Given the description of an element on the screen output the (x, y) to click on. 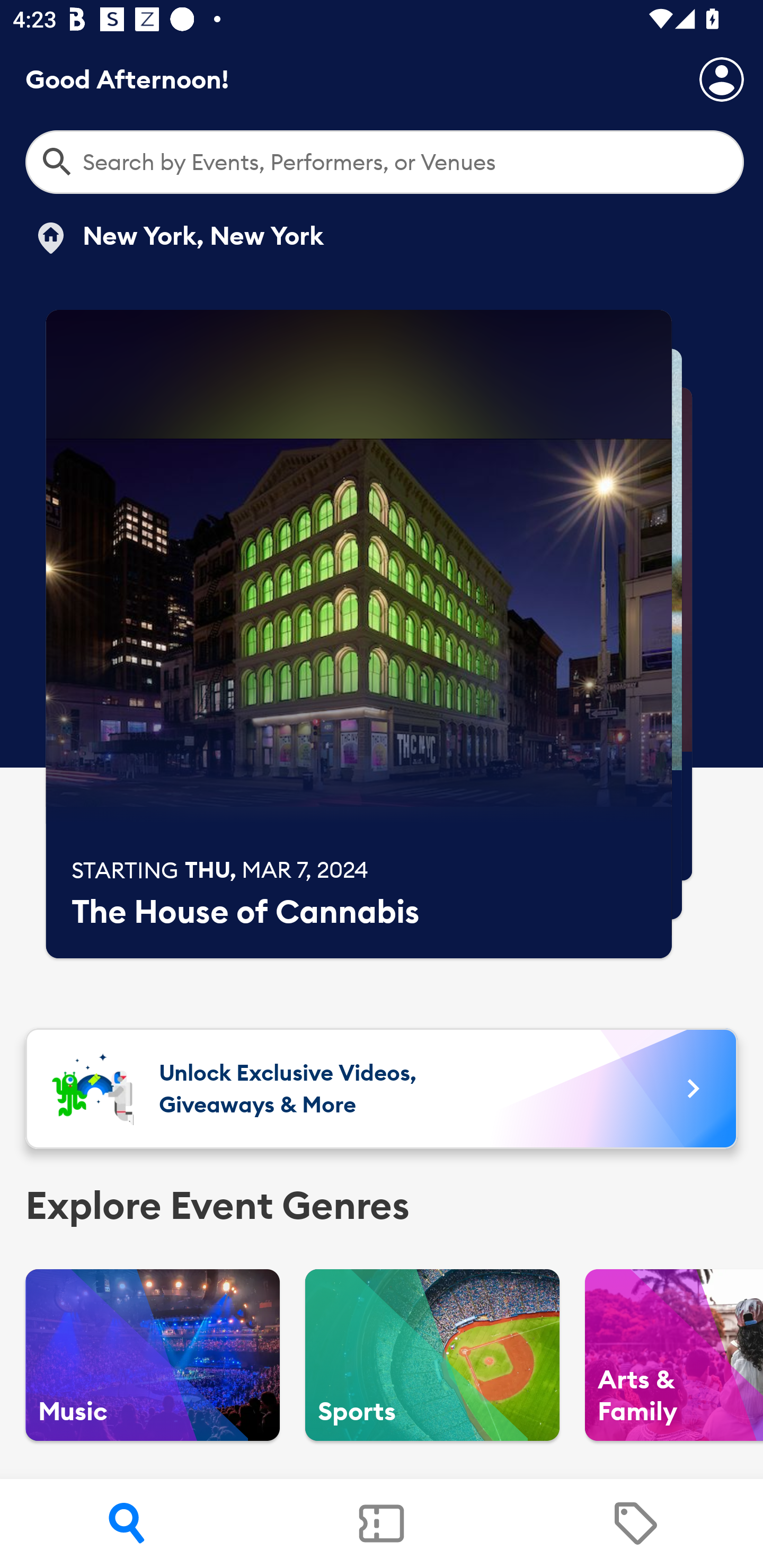
UserIcon (721, 78)
Search by Events, Performers, or Venues (384, 161)
New York, New York (177, 237)
STARTING THU, MAR 7, 2024 The House of Cannabis (358, 634)
Unlock Exclusive Videos,
Giveaways & More (381, 1088)
Music (152, 1354)
Sports (432, 1354)
Arts & Family (674, 1354)
Menu Item: Tickets (381, 1523)
Menu Item: Resale (635, 1523)
